Given the description of an element on the screen output the (x, y) to click on. 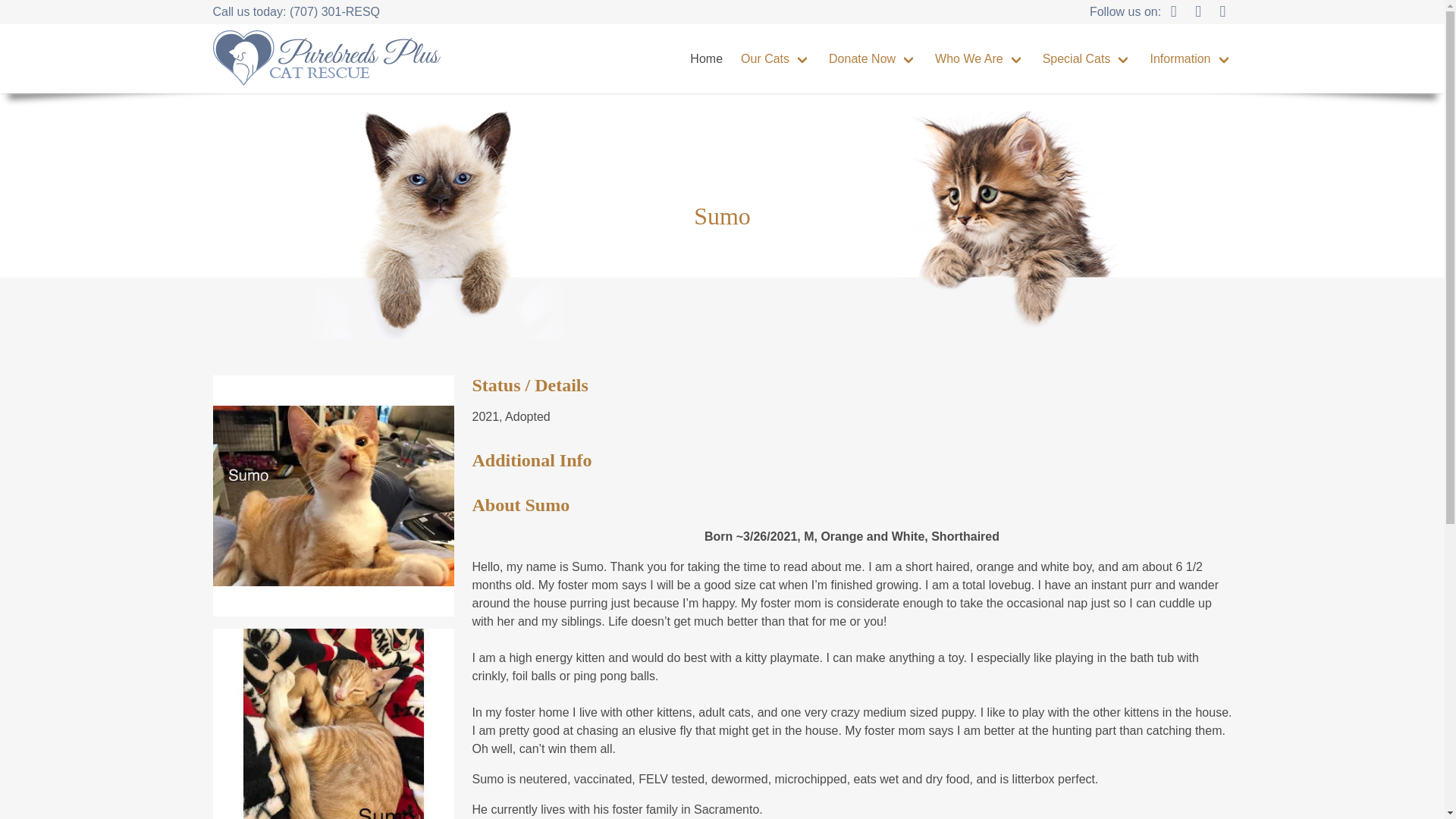
Donate Now (872, 58)
Who We Are (979, 58)
Special Cats (1087, 58)
Information (1190, 58)
Our Cats (775, 58)
